Given the description of an element on the screen output the (x, y) to click on. 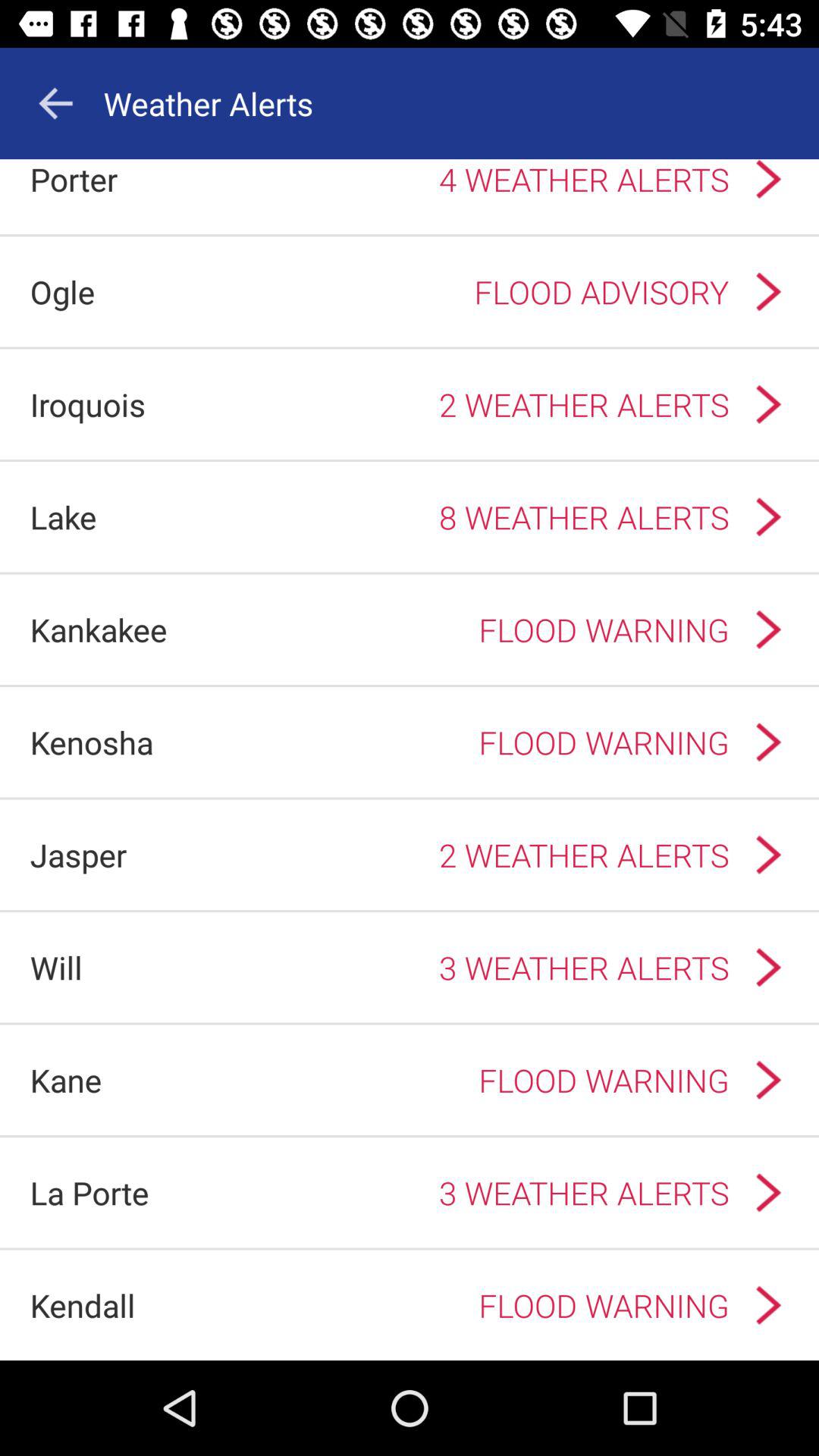
turn off item next to the ogle (421, 291)
